Given the description of an element on the screen output the (x, y) to click on. 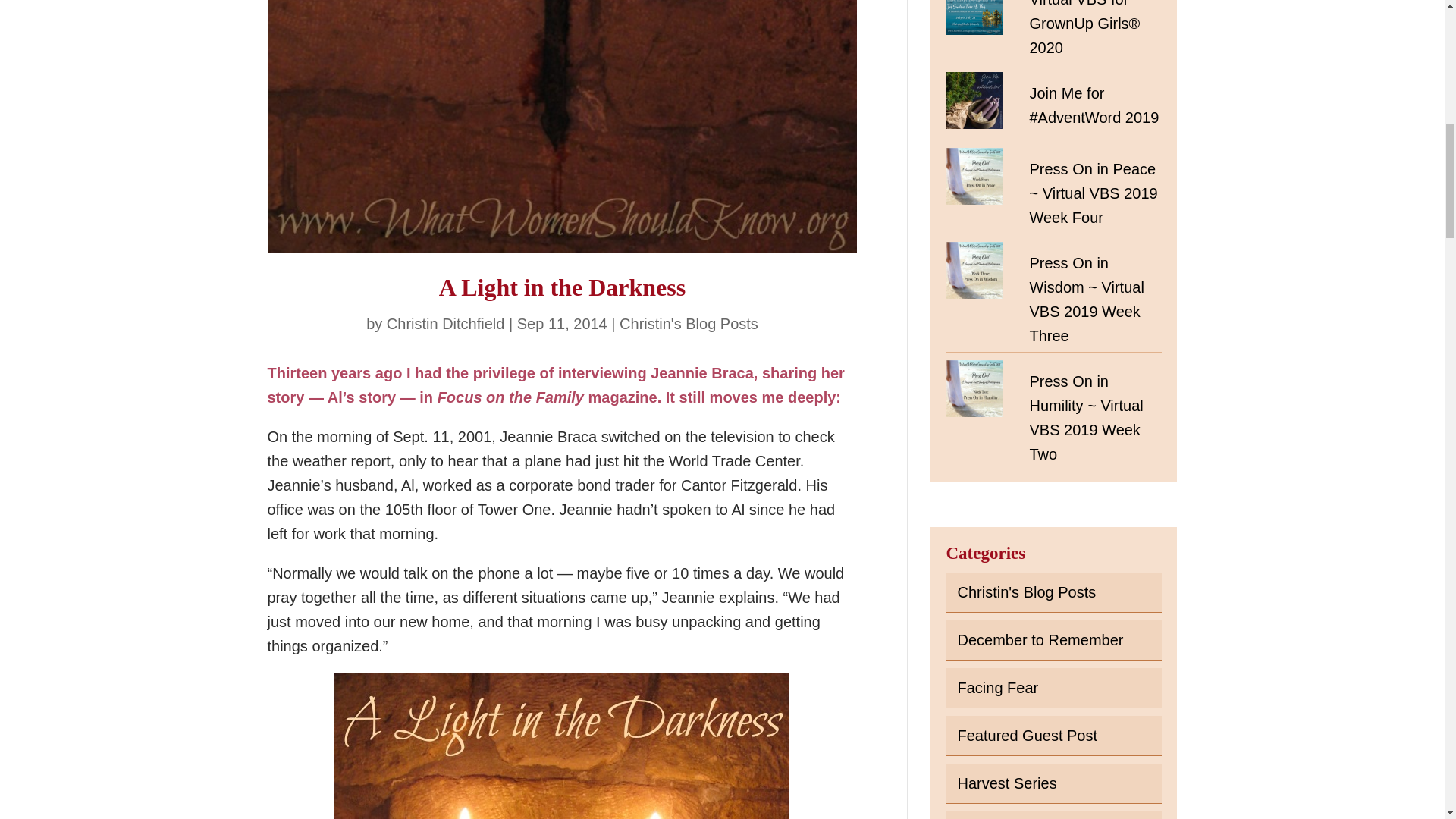
Posts by Christin Ditchfield (446, 323)
Christin Ditchfield (446, 323)
Christin's Blog Posts (689, 323)
